Given the description of an element on the screen output the (x, y) to click on. 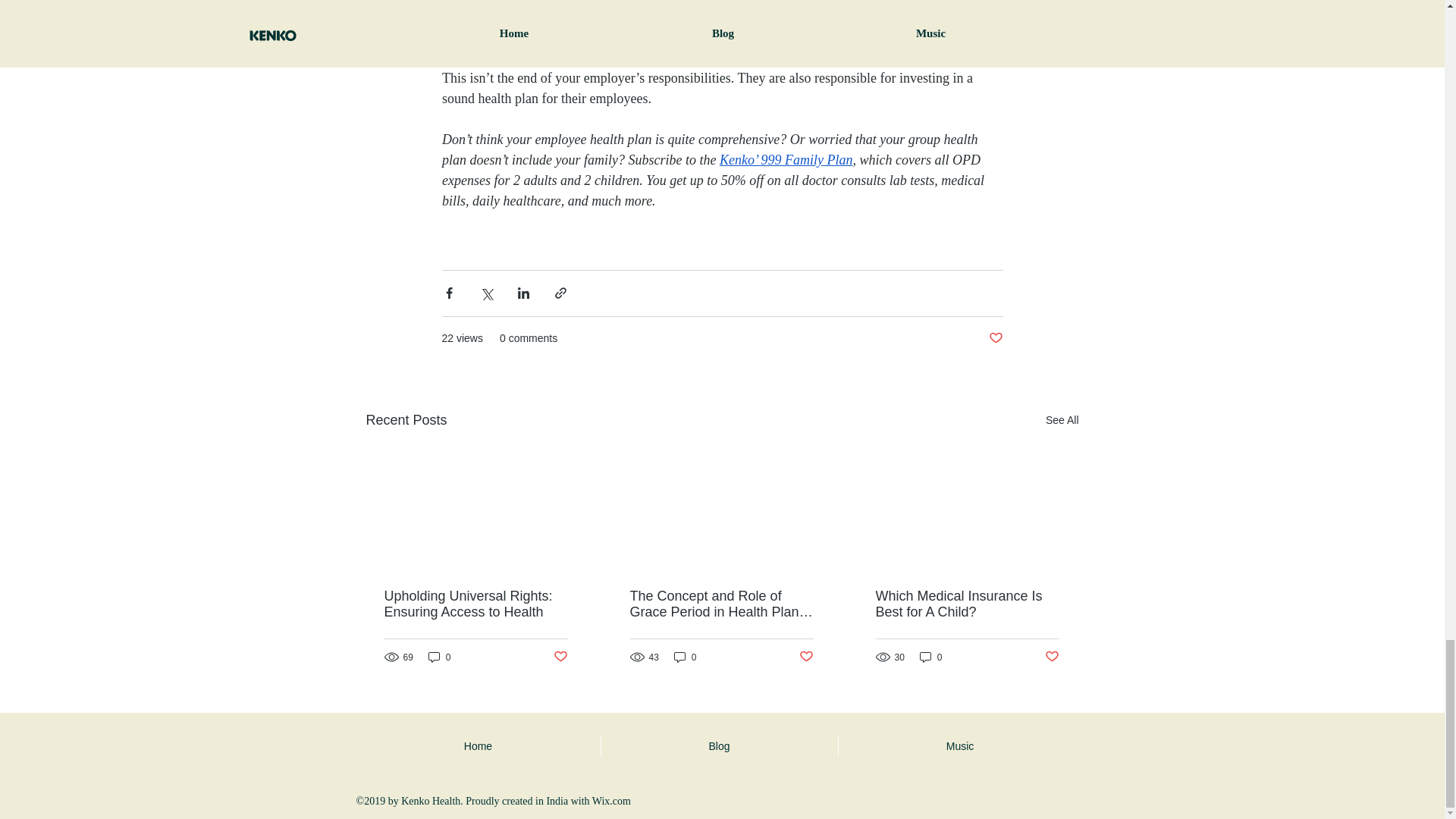
0 (930, 657)
0 (439, 657)
Music (959, 745)
Post not marked as liked (560, 657)
Which Medical Insurance Is Best for A Child? (966, 603)
See All (1061, 420)
Home (477, 745)
Post not marked as liked (995, 338)
Upholding Universal Rights: Ensuring Access to Health (475, 603)
Post not marked as liked (1052, 657)
Post not marked as liked (806, 657)
Blog (718, 745)
0 (685, 657)
